Given the description of an element on the screen output the (x, y) to click on. 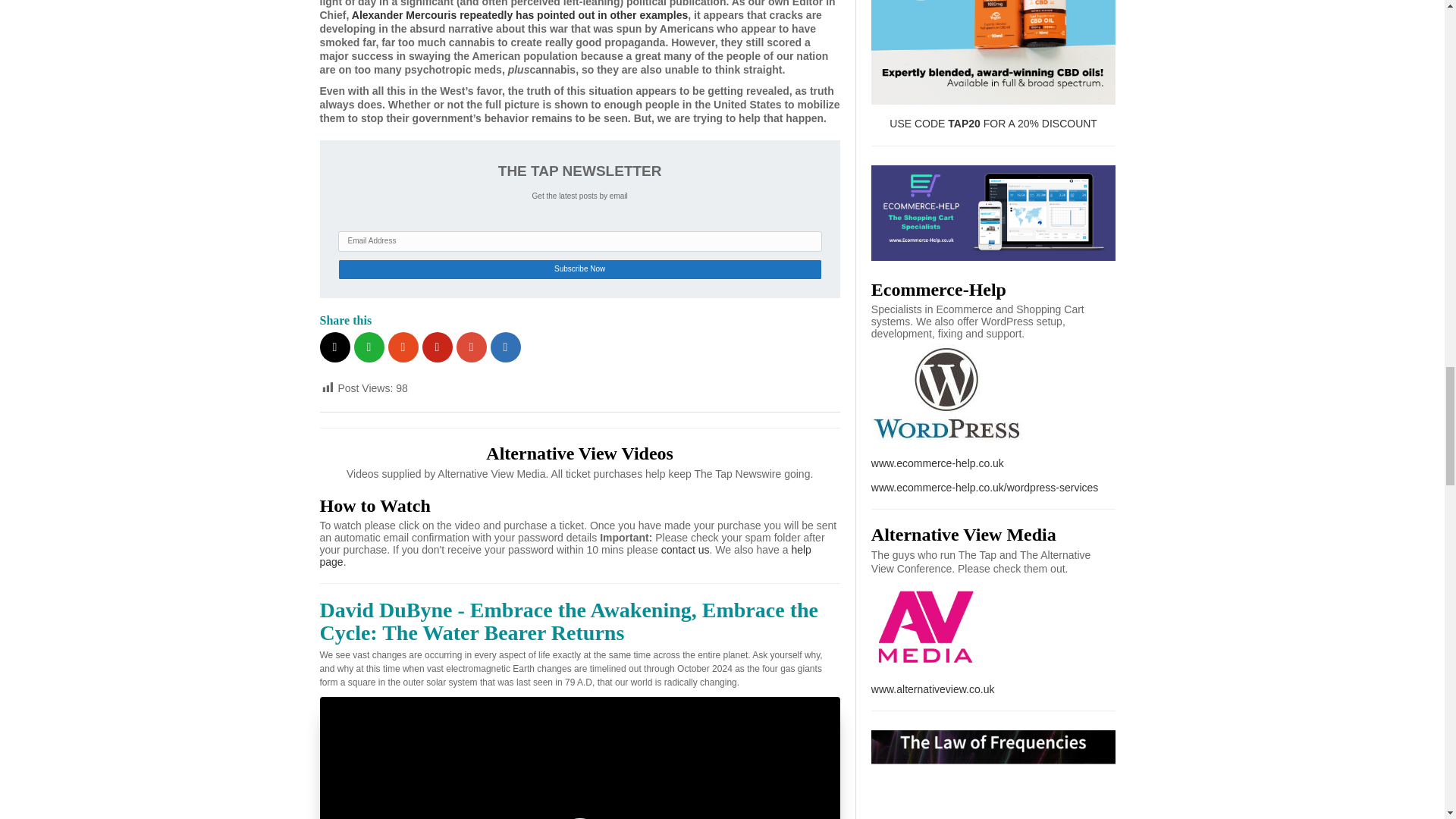
Subscribe Now (579, 269)
contact us (685, 549)
Subscribe Now (579, 269)
